Given the description of an element on the screen output the (x, y) to click on. 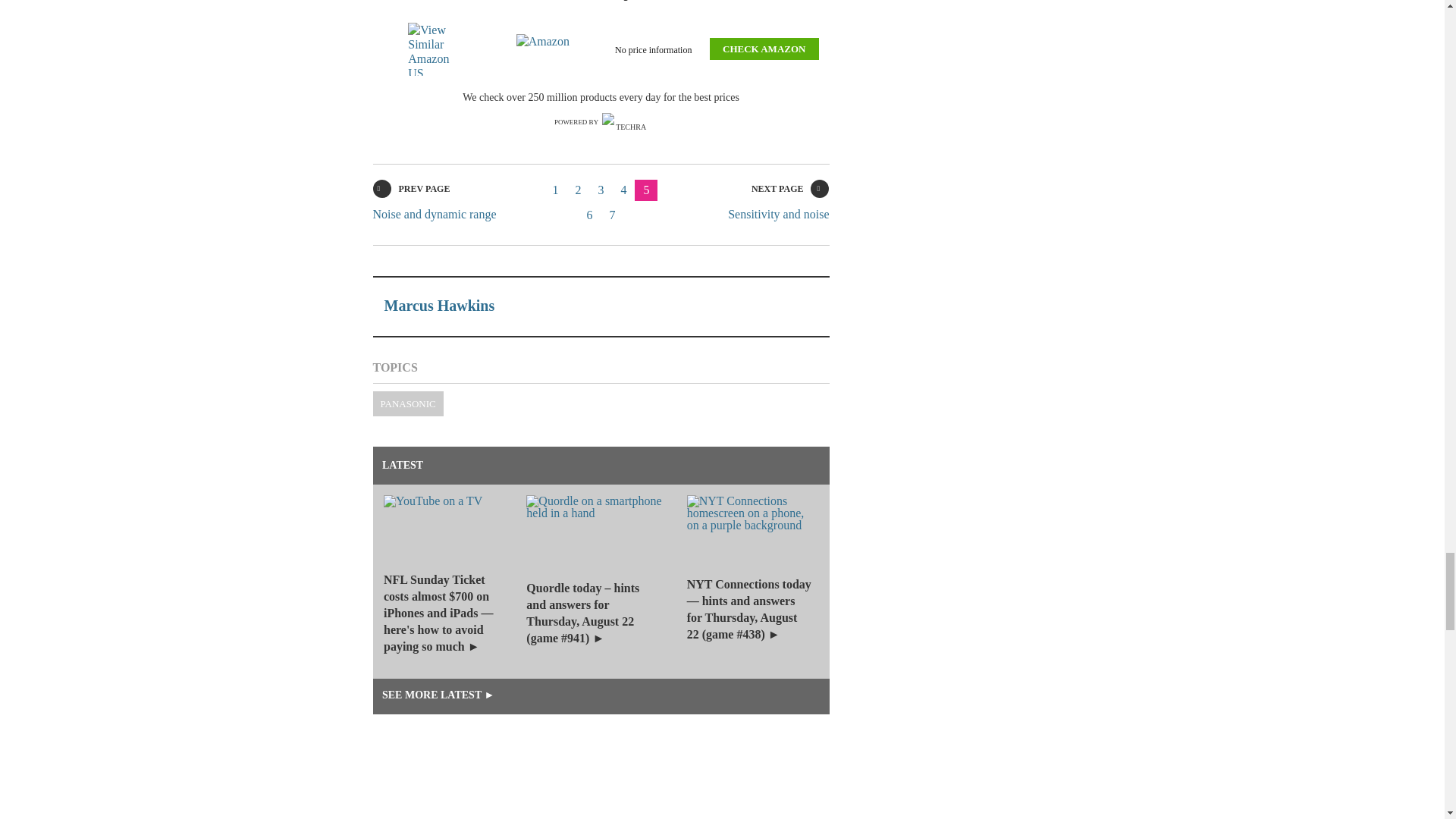
Techradar (624, 122)
Amazon (546, 49)
View Similar Amazon US (437, 49)
